Given the description of an element on the screen output the (x, y) to click on. 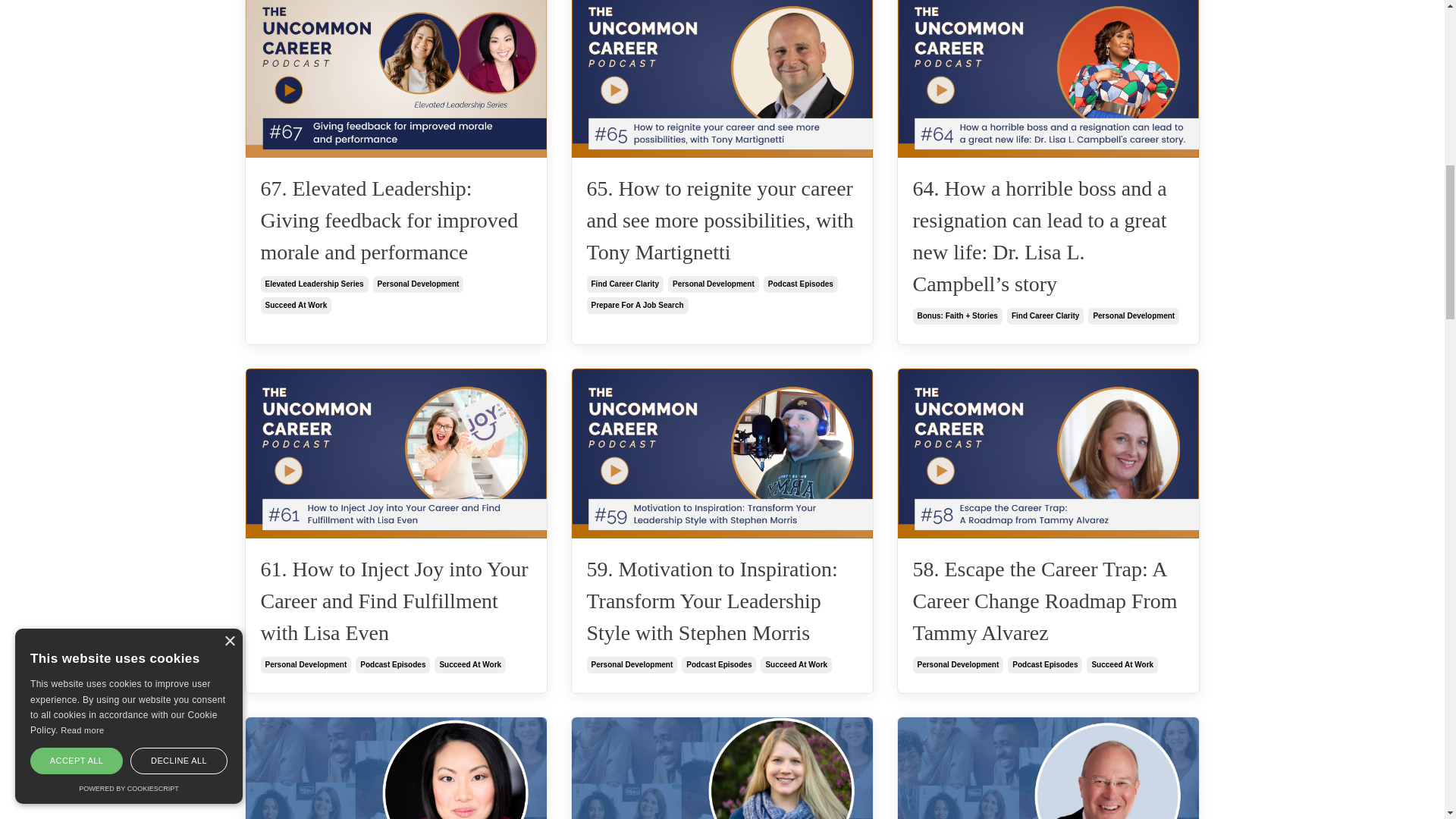
Find Career Clarity (624, 284)
Podcast Episodes (718, 664)
Podcast Episodes (392, 664)
Succeed At Work (795, 664)
Prepare For A Job Search (637, 305)
Succeed At Work (295, 305)
Succeed At Work (469, 664)
Find Career Clarity (1045, 315)
Podcast Episodes (1044, 664)
Succeed At Work (1121, 664)
Personal Development (1133, 315)
